Given the description of an element on the screen output the (x, y) to click on. 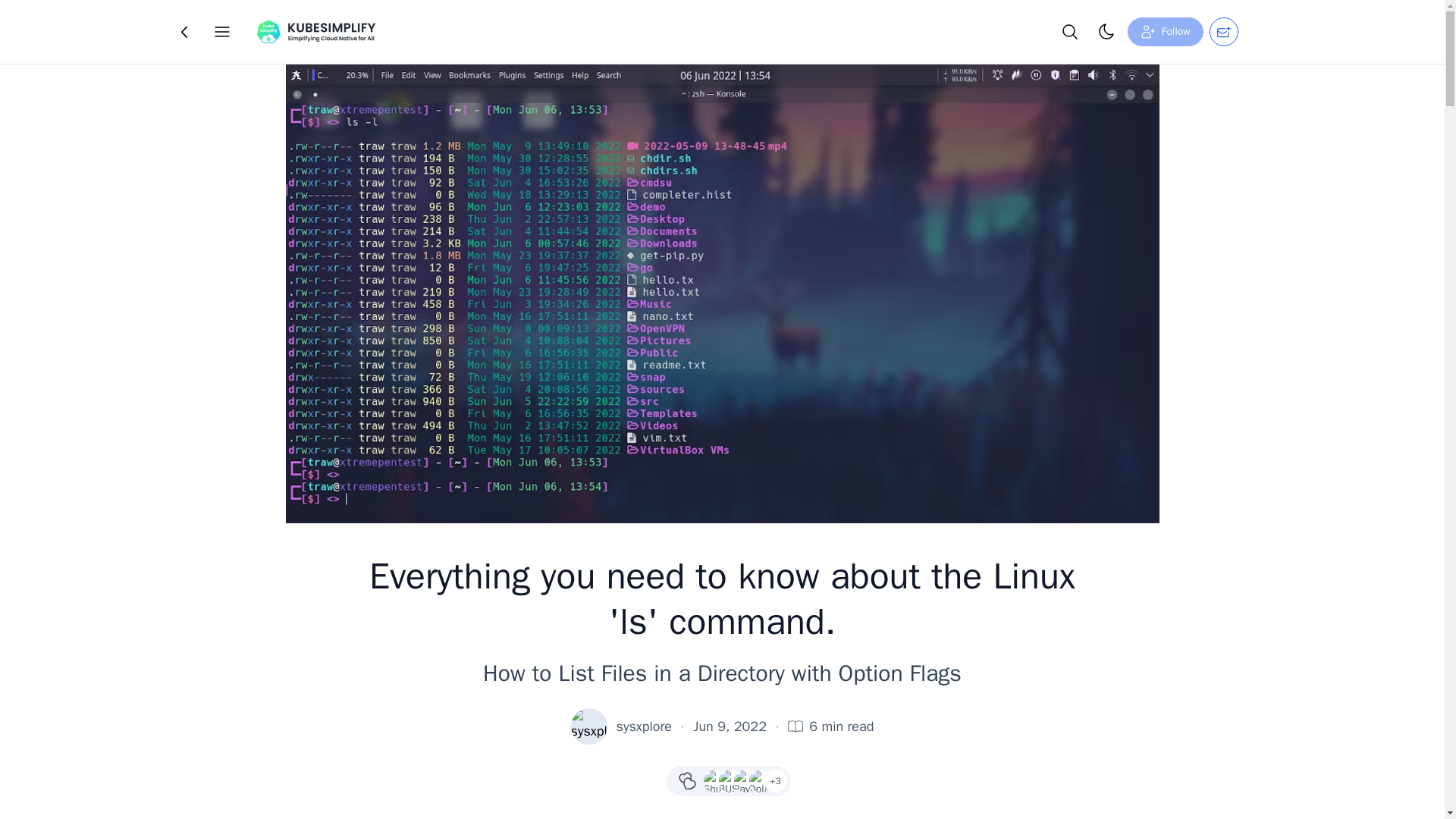
Jun 9, 2022 (730, 726)
sysxplore (643, 726)
Follow (1165, 31)
